Given the description of an element on the screen output the (x, y) to click on. 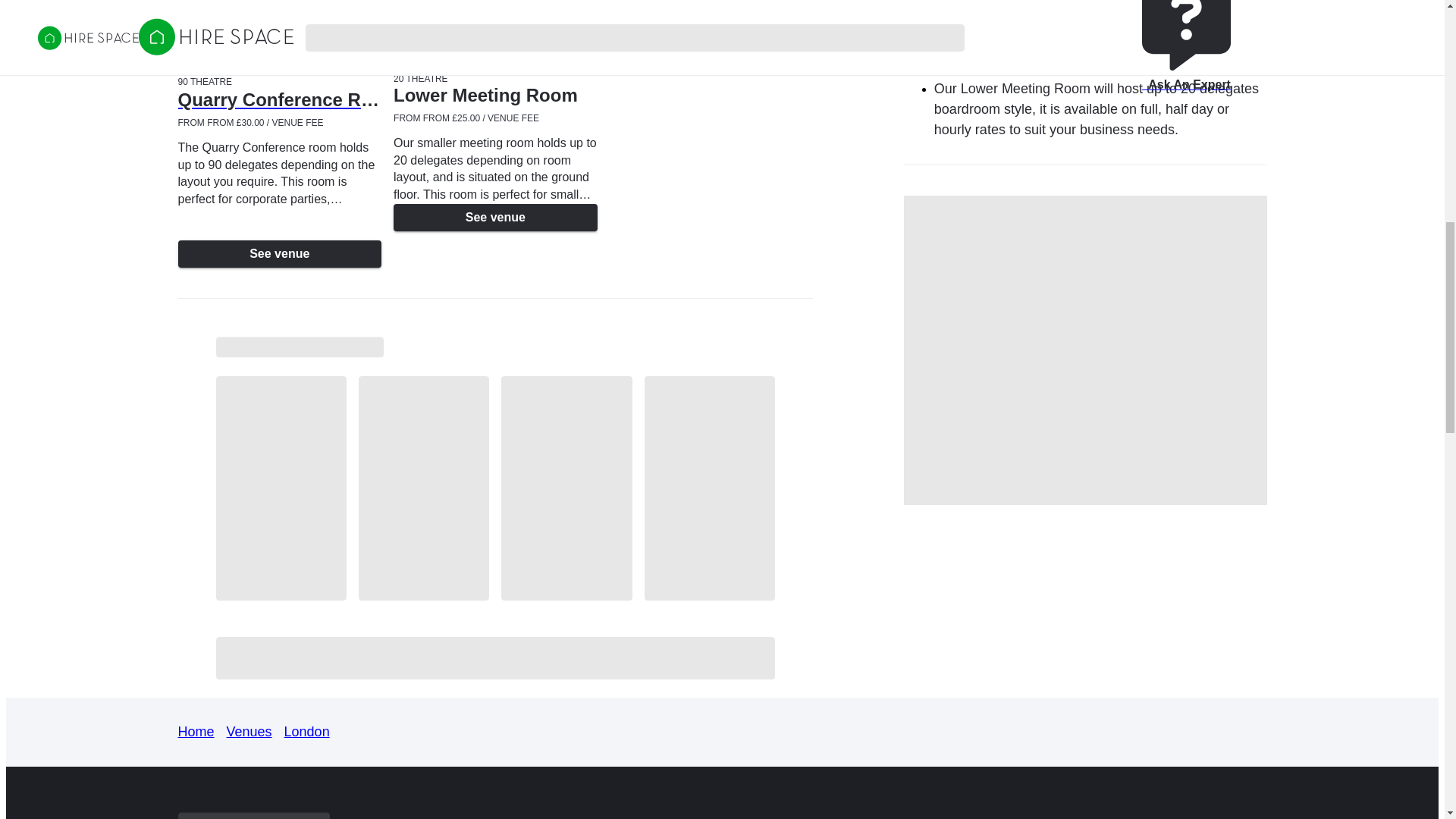
Quarry Conference Room (279, 106)
Home (195, 731)
See venue (279, 253)
Venues (249, 731)
London (306, 731)
